Given the description of an element on the screen output the (x, y) to click on. 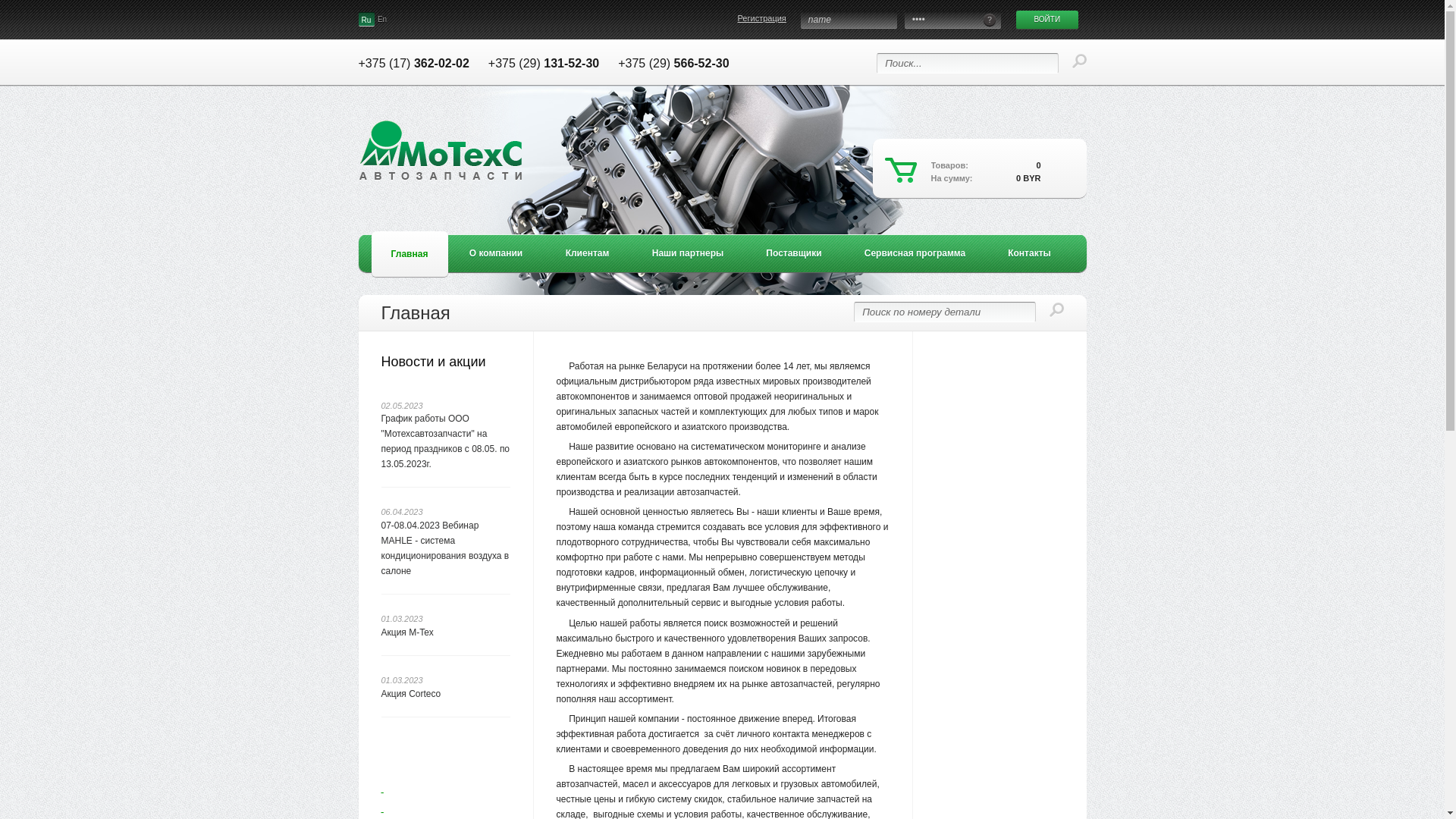
Ru Element type: text (365, 19)
    Element type: text (444, 798)
En Element type: text (382, 19)
